Given the description of an element on the screen output the (x, y) to click on. 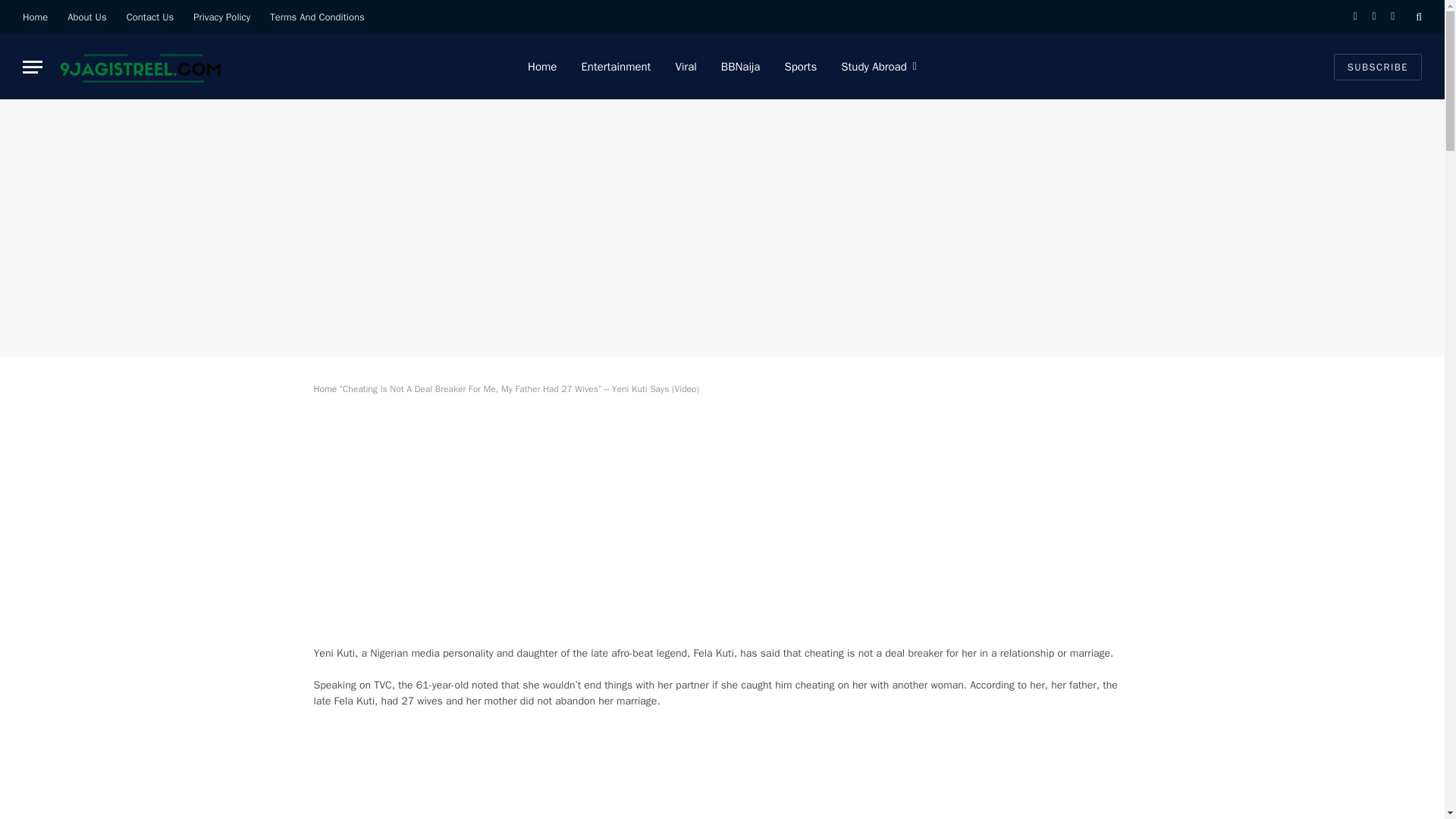
Contact Us (150, 17)
BBNaija (741, 66)
Home (35, 17)
Home (325, 388)
Entertainment (615, 66)
About Us (87, 17)
SUBSCRIBE (1377, 66)
Privacy Policy (221, 17)
Study Abroad (878, 66)
Advertisement (722, 775)
9JaGistreel.com (138, 66)
Terms And Conditions (317, 17)
